Given the description of an element on the screen output the (x, y) to click on. 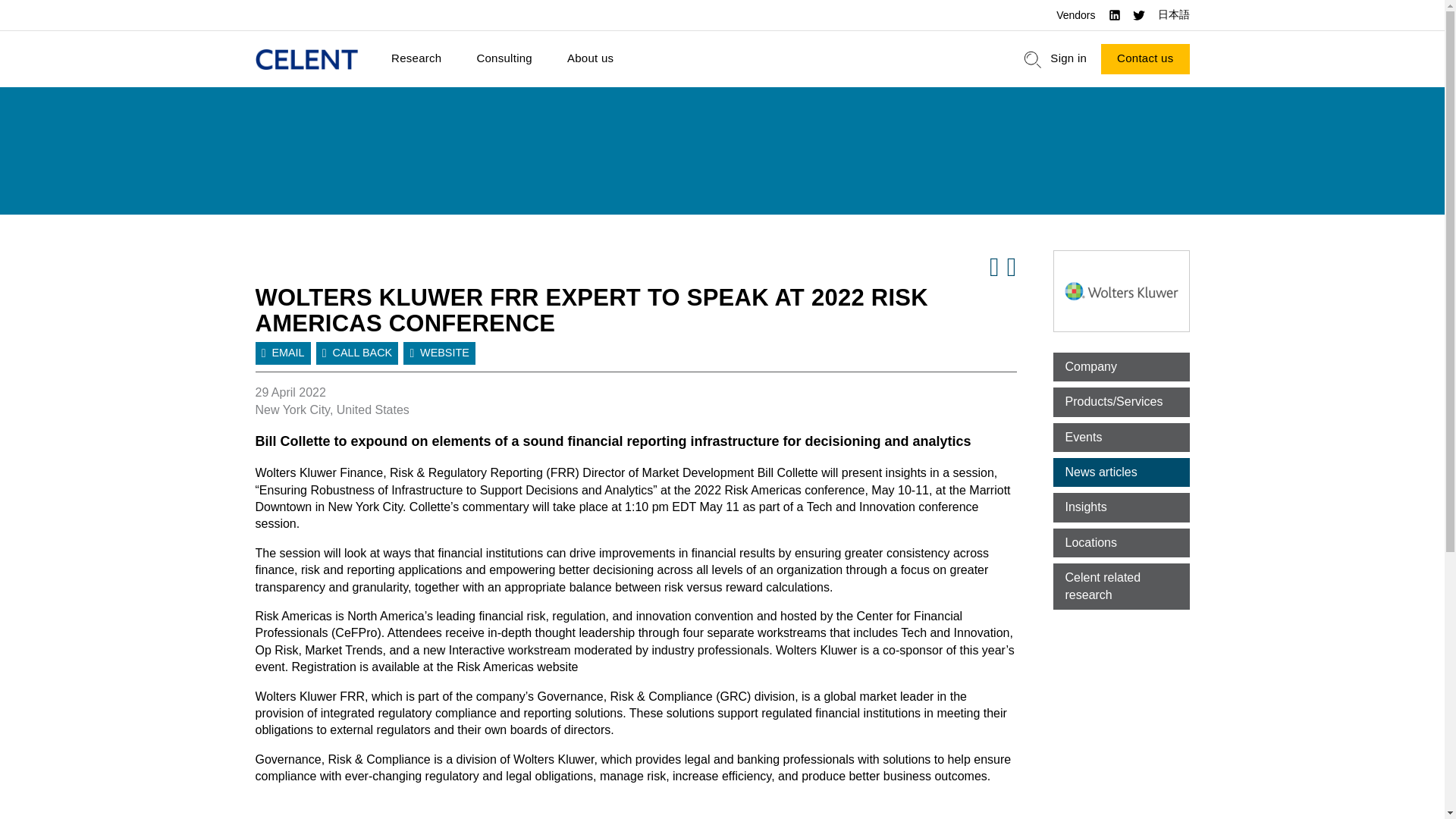
Vendors (1075, 15)
Home (306, 59)
About us (590, 59)
Company (1120, 366)
Sign in (1068, 59)
Consulting (503, 59)
Contact us (1144, 59)
search (1032, 58)
Research (415, 59)
